Given the description of an element on the screen output the (x, y) to click on. 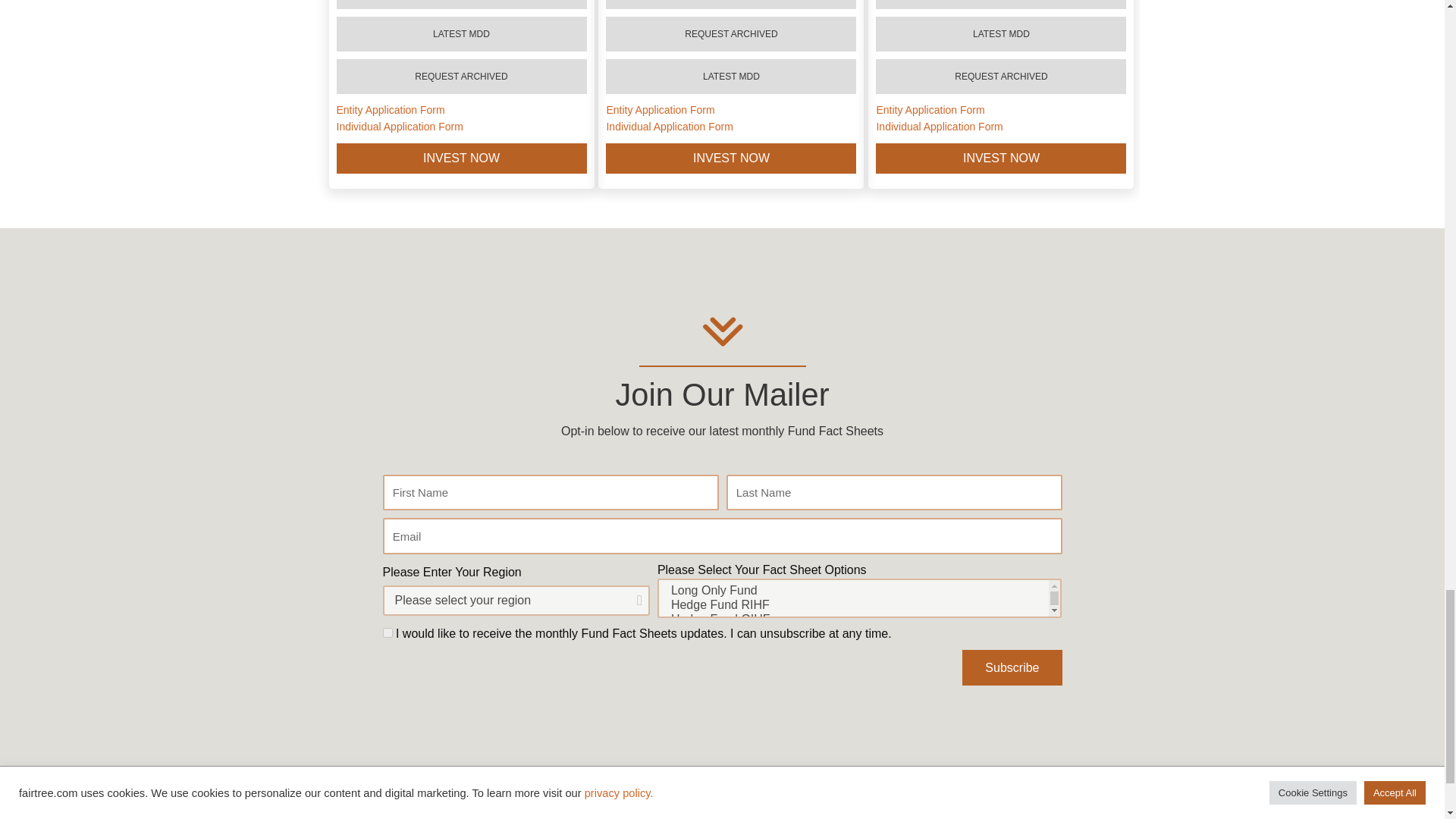
on (386, 633)
